Given the description of an element on the screen output the (x, y) to click on. 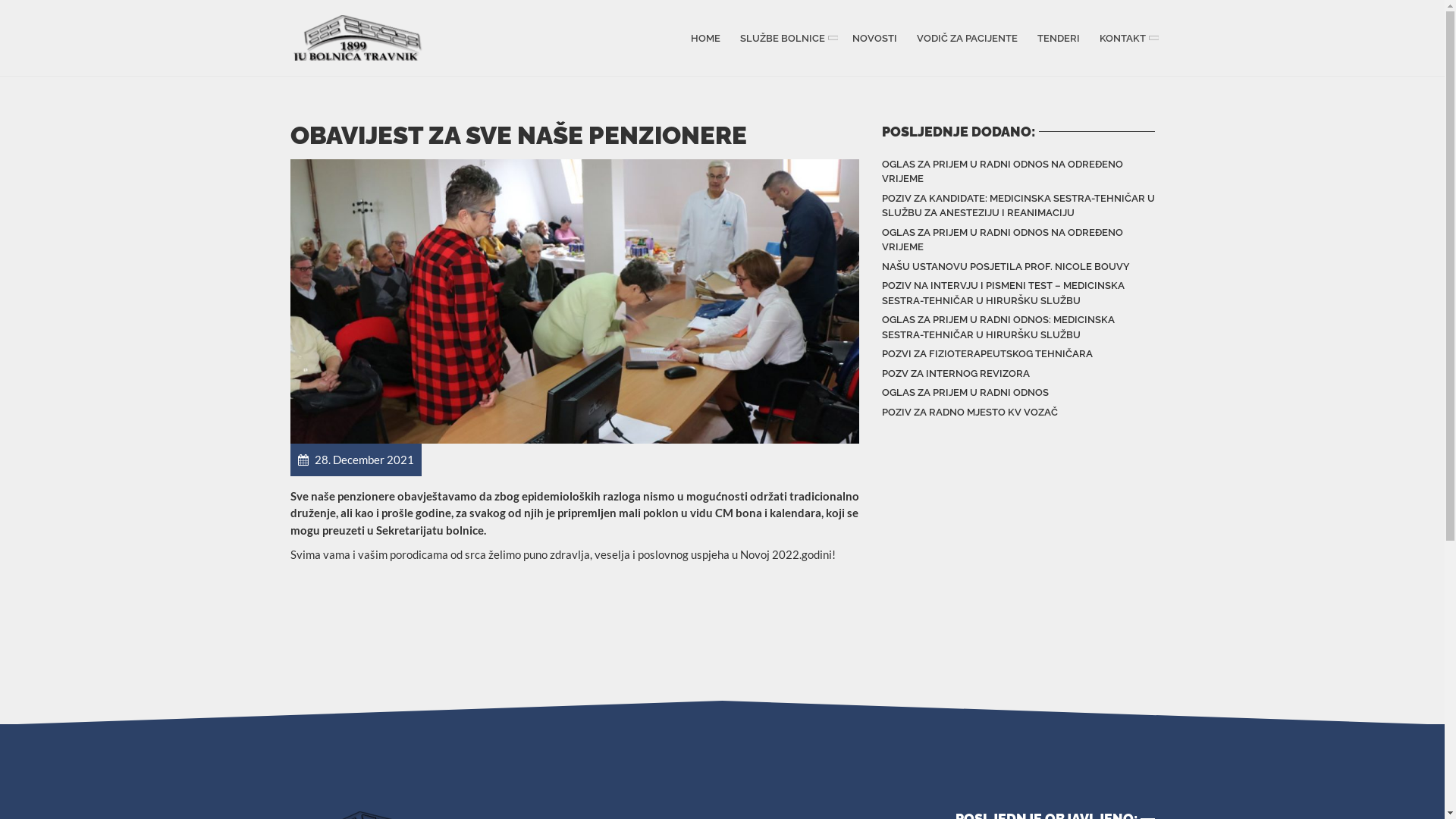
HOME Element type: text (705, 37)
POZV ZA INTERNOG REVIZORA Element type: text (955, 373)
KONTAKT Element type: text (1125, 37)
TENDERI Element type: text (1057, 37)
NOVOSTI Element type: text (873, 37)
OGLAS ZA PRIJEM U RADNI ODNOS Element type: text (964, 392)
